Given the description of an element on the screen output the (x, y) to click on. 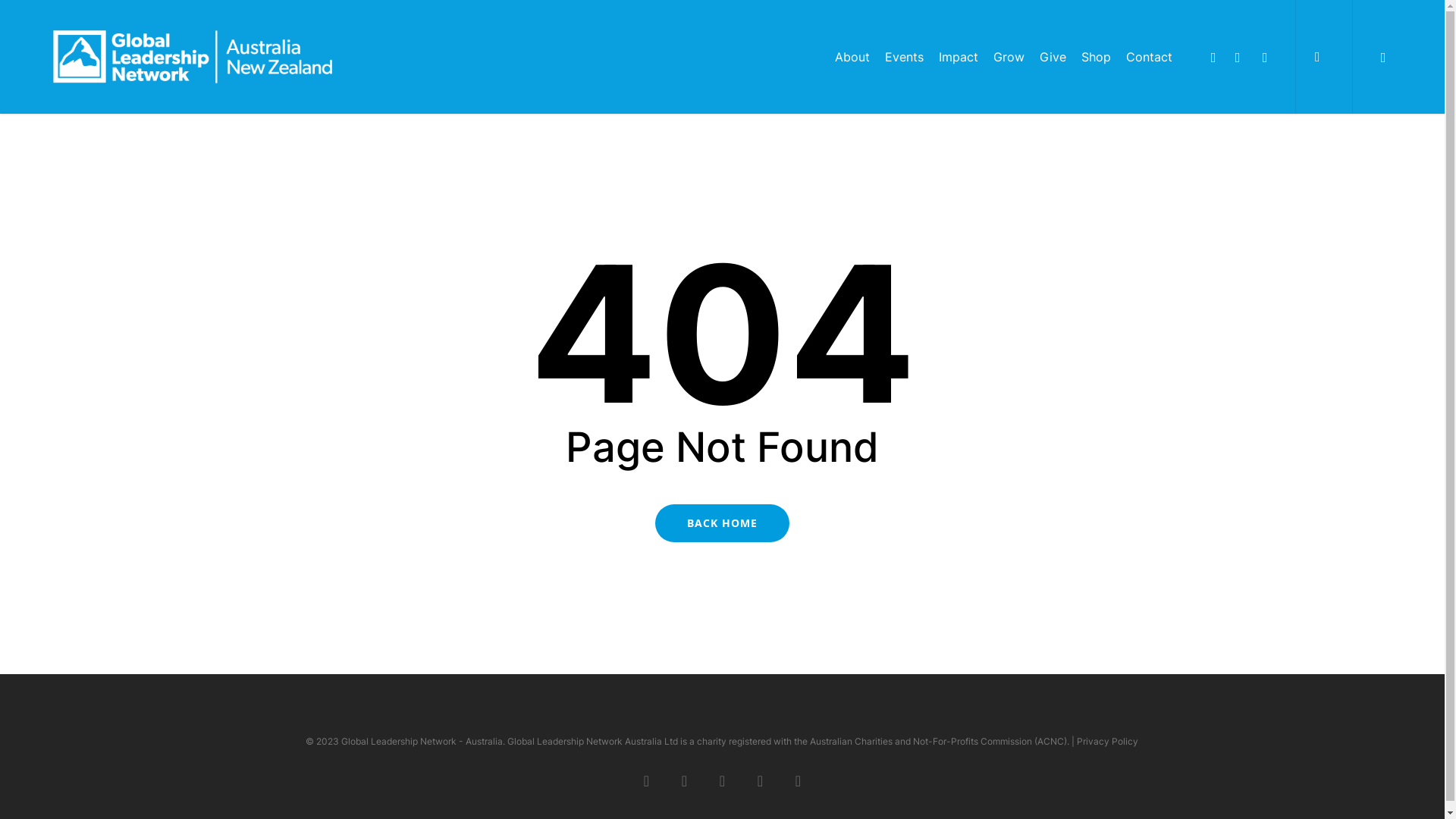
Events Element type: text (903, 56)
Grow Element type: text (1008, 56)
facebook Element type: text (1212, 56)
Privacy Policy Element type: text (1107, 740)
linkedin Element type: text (722, 779)
Impact Element type: text (958, 56)
youtube Element type: text (760, 779)
search Element type: text (1323, 56)
BACK HOME Element type: text (722, 522)
Contact Element type: text (1149, 56)
instagram Element type: text (1264, 56)
About Element type: text (851, 56)
twitter Element type: text (646, 779)
facebook Element type: text (684, 779)
instagram Element type: text (798, 779)
Give Element type: text (1052, 56)
linkedin Element type: text (1237, 56)
Shop Element type: text (1095, 56)
